Given the description of an element on the screen output the (x, y) to click on. 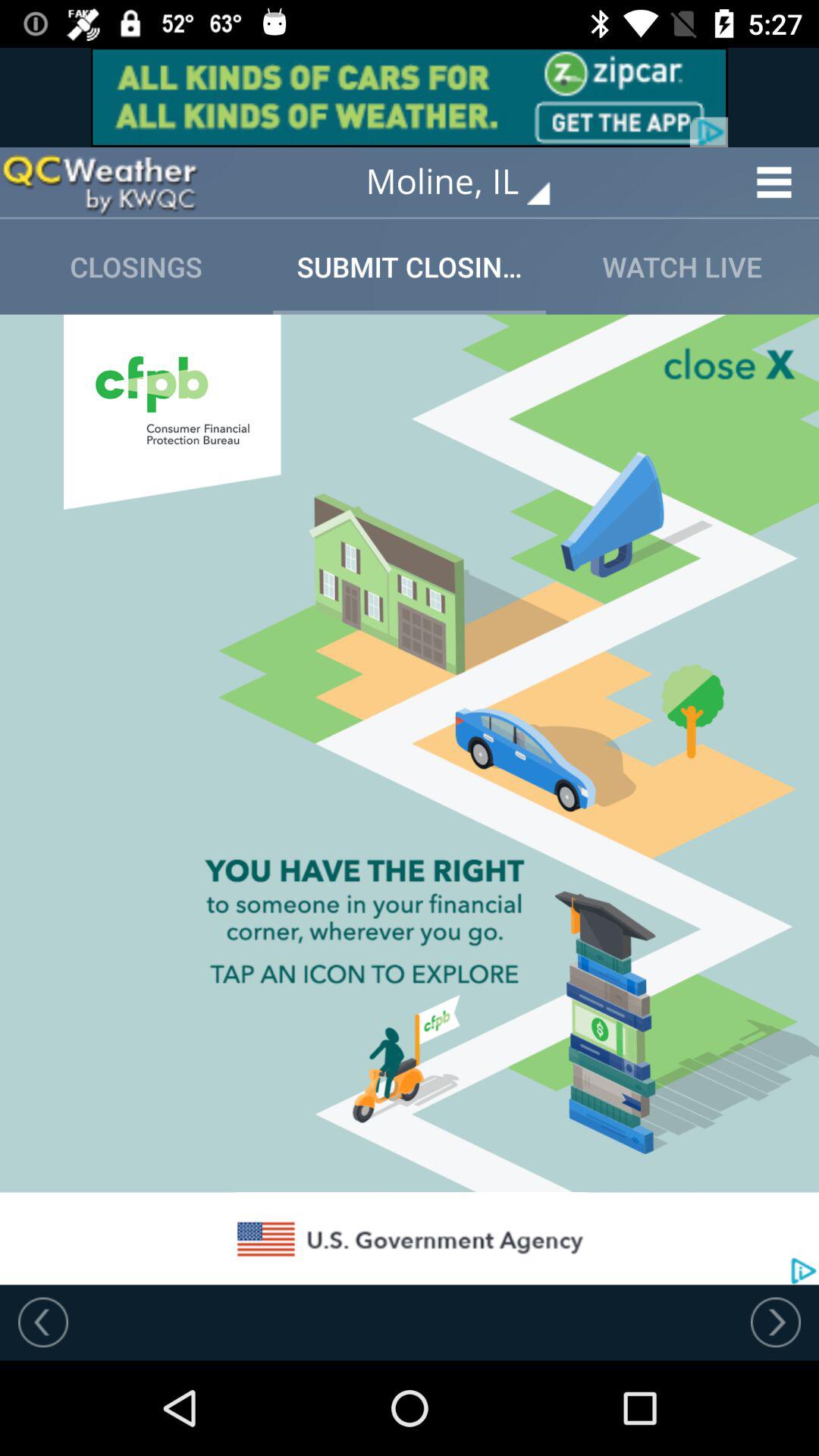
next field (775, 1322)
